Given the description of an element on the screen output the (x, y) to click on. 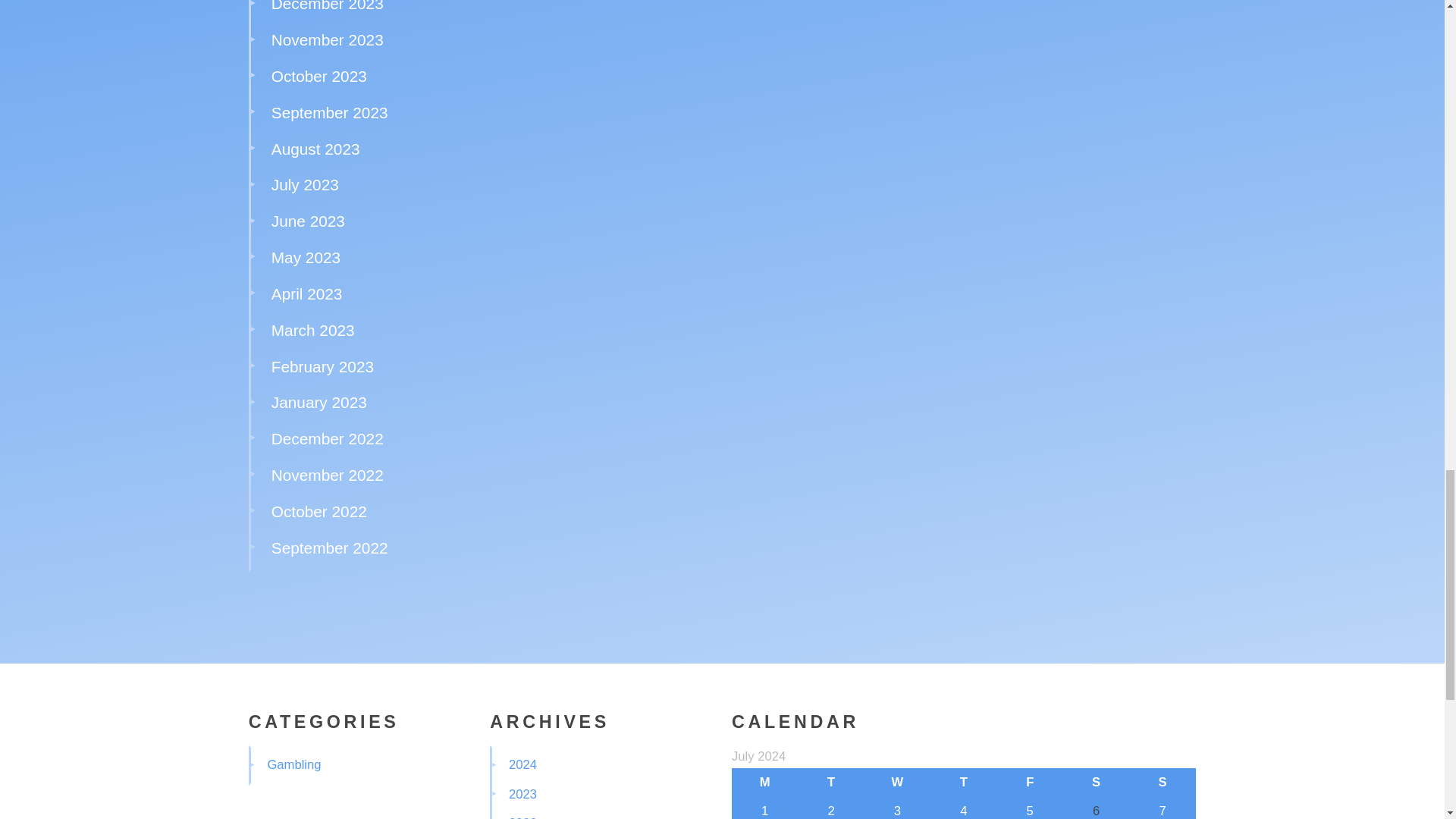
Friday (1029, 782)
January 2023 (318, 402)
Saturday (1095, 782)
Thursday (962, 782)
December 2023 (327, 6)
February 2023 (322, 366)
Sunday (1162, 782)
2024 (522, 764)
September 2023 (329, 112)
September 2022 (329, 547)
Wednesday (897, 782)
October 2023 (318, 76)
Monday (764, 782)
2023 (522, 794)
May 2023 (305, 257)
